Given the description of an element on the screen output the (x, y) to click on. 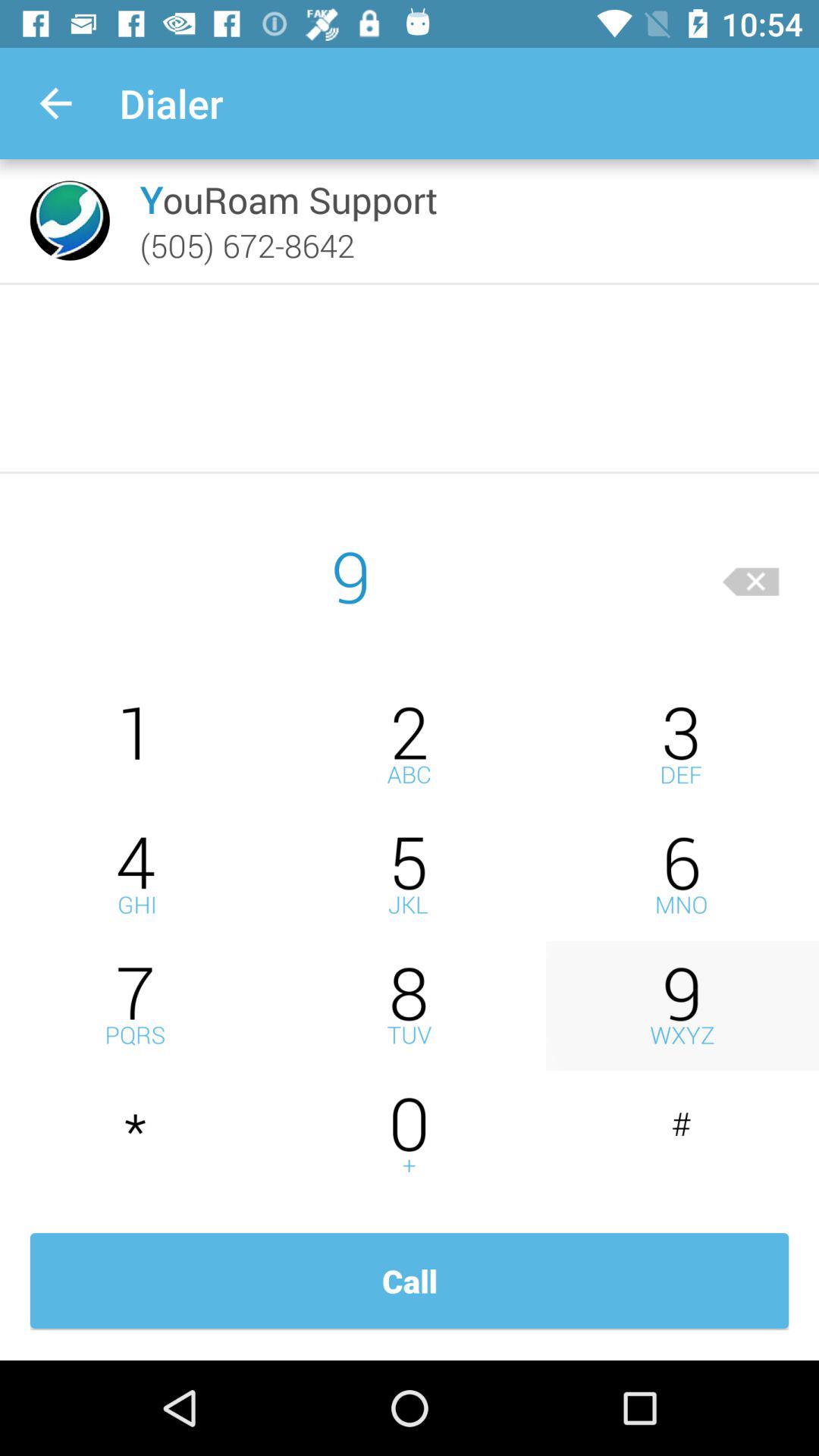
numeral 1 (136, 745)
